Given the description of an element on the screen output the (x, y) to click on. 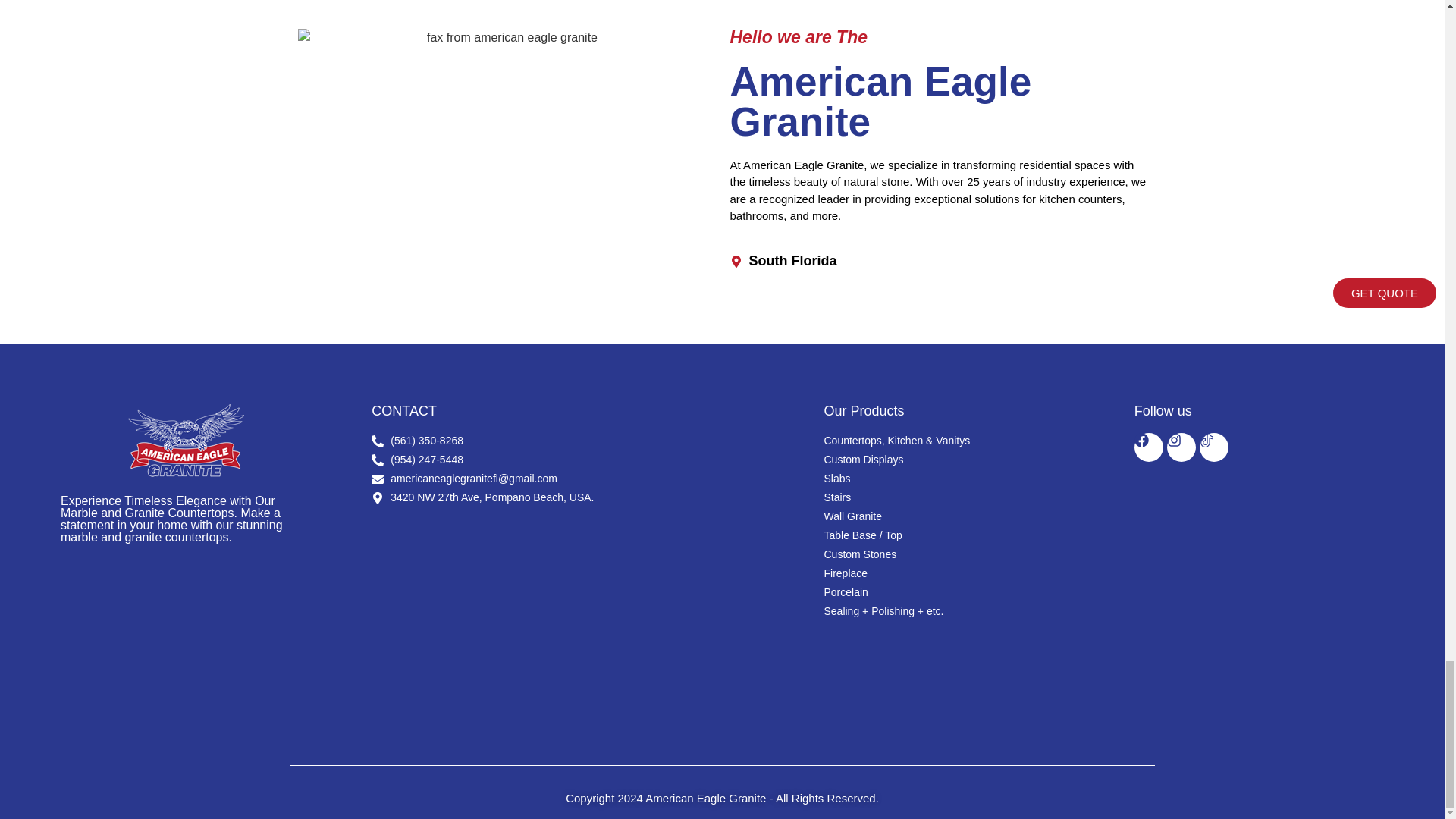
3420 NW 27th Ave, Pompano Beach, USA. (566, 497)
Copyright 2024 American Eagle Granite - All Rights Reserved. (722, 797)
South Florida (938, 260)
American Eagle Granite (566, 613)
